Given the description of an element on the screen output the (x, y) to click on. 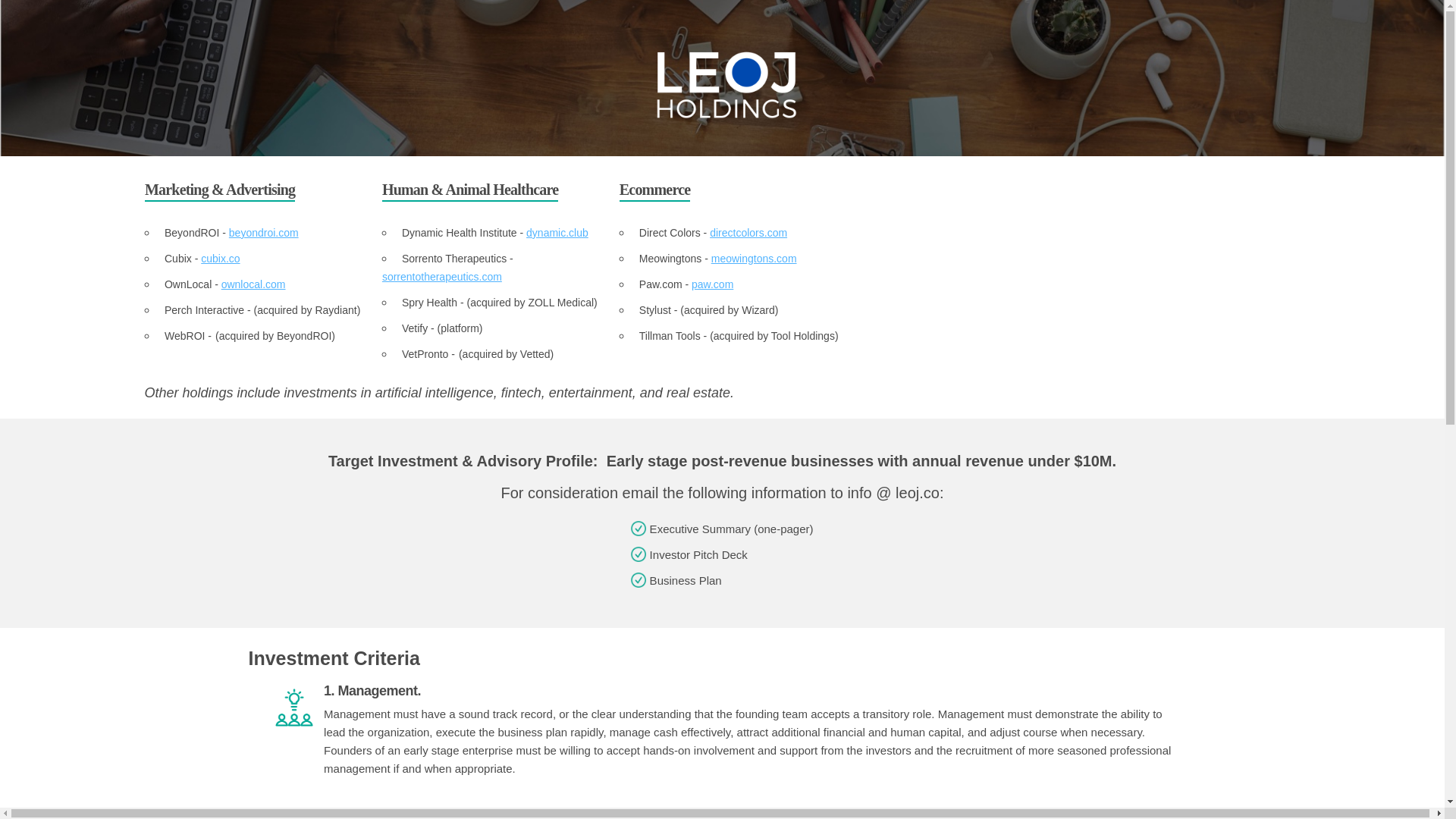
cubix.co (220, 258)
directcolors.com (748, 232)
dynamic.club (556, 232)
ownlocal.com (253, 284)
sorrentotherapeutics.com (441, 276)
paw.com (712, 284)
meowingtons.com (753, 258)
beyondroi.com (263, 232)
